Given the description of an element on the screen output the (x, y) to click on. 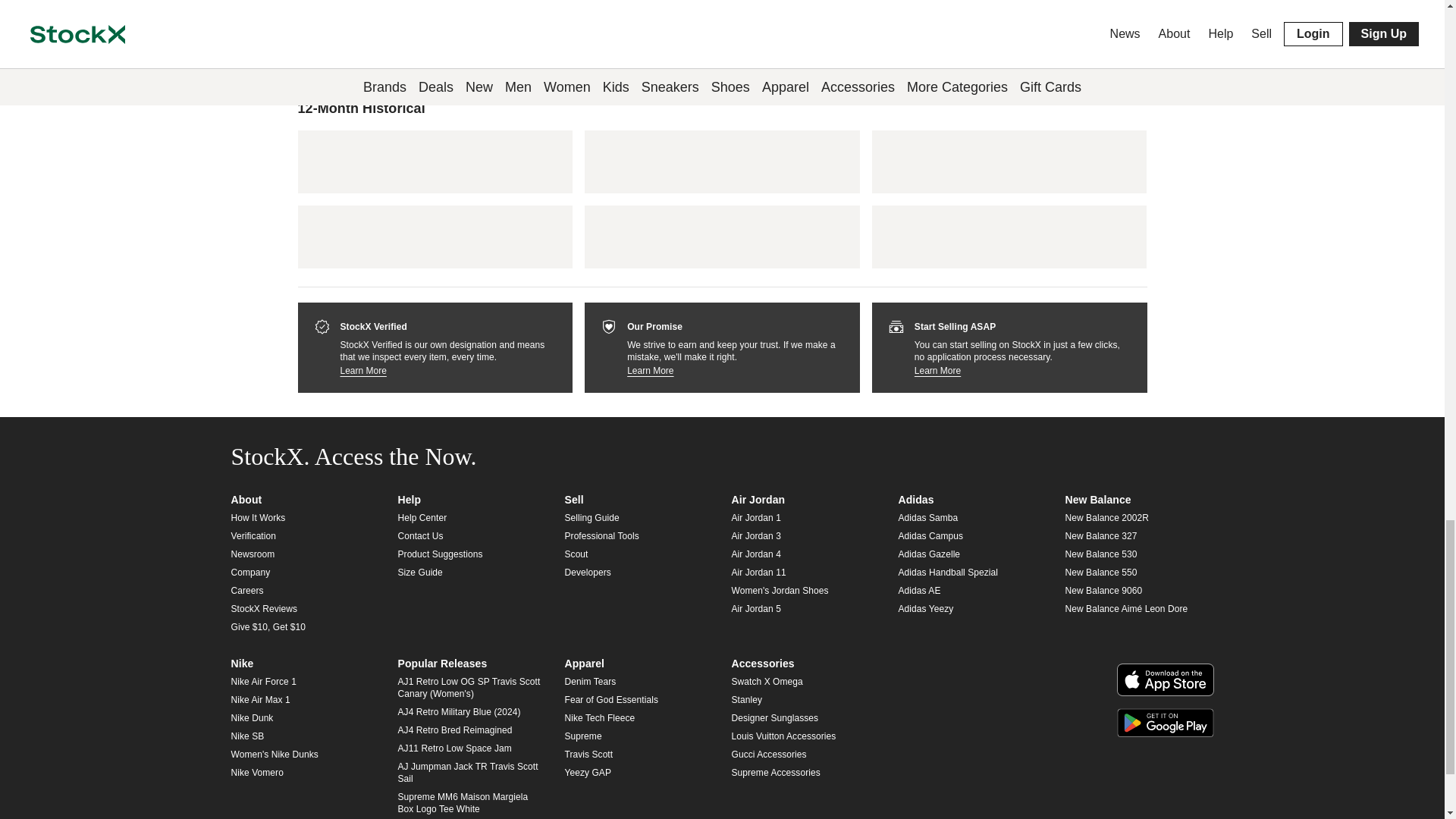
android (1164, 722)
ios (1164, 679)
